Given the description of an element on the screen output the (x, y) to click on. 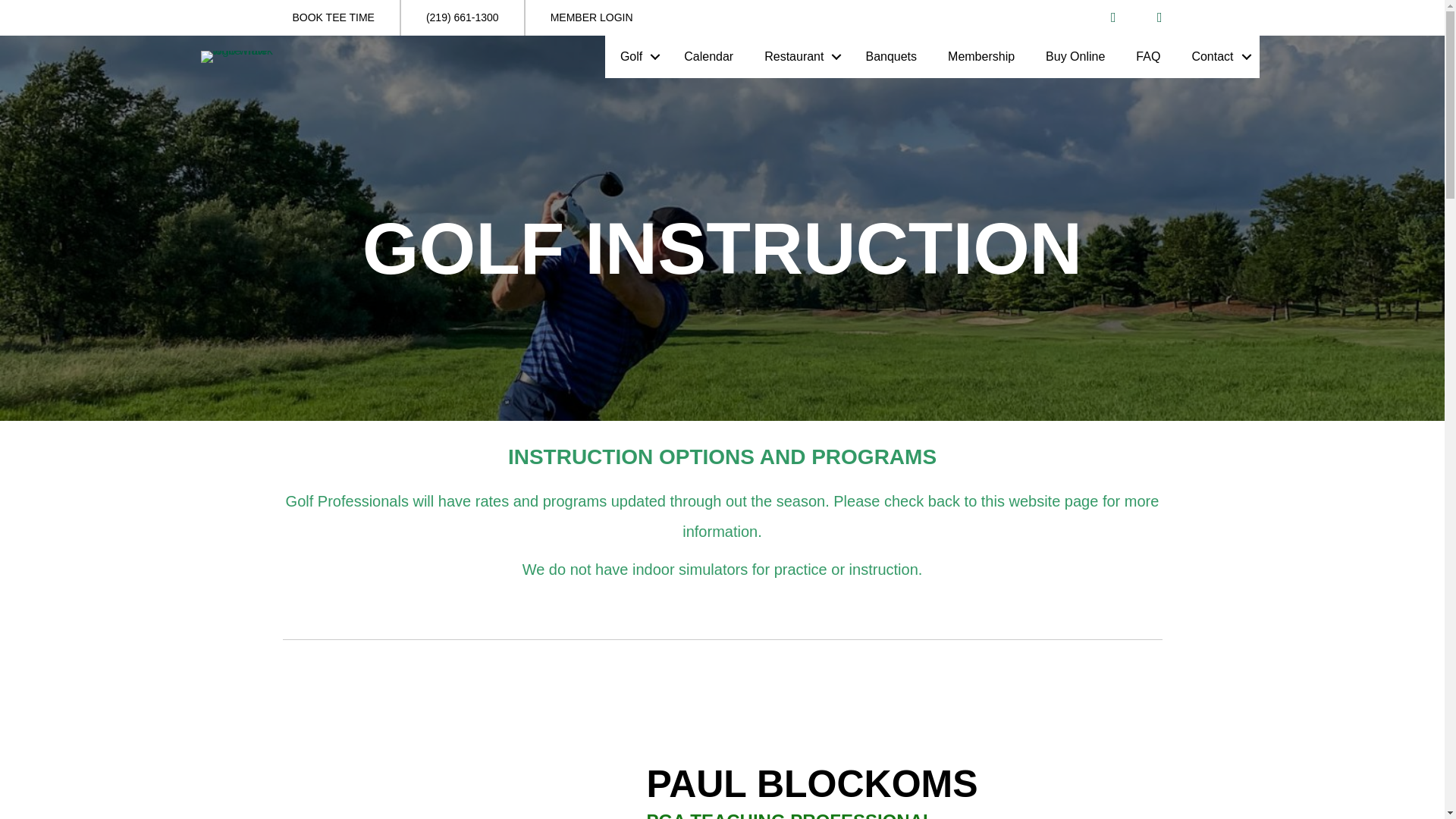
FAQ (1147, 56)
Buy Online (1074, 56)
Banquets (890, 56)
Restaurant (798, 56)
Golf (636, 56)
Contact (1217, 56)
Calendar (708, 56)
Membership (981, 56)
white hawk logo white (245, 56)
MEMBER LOGIN (591, 18)
